Given the description of an element on the screen output the (x, y) to click on. 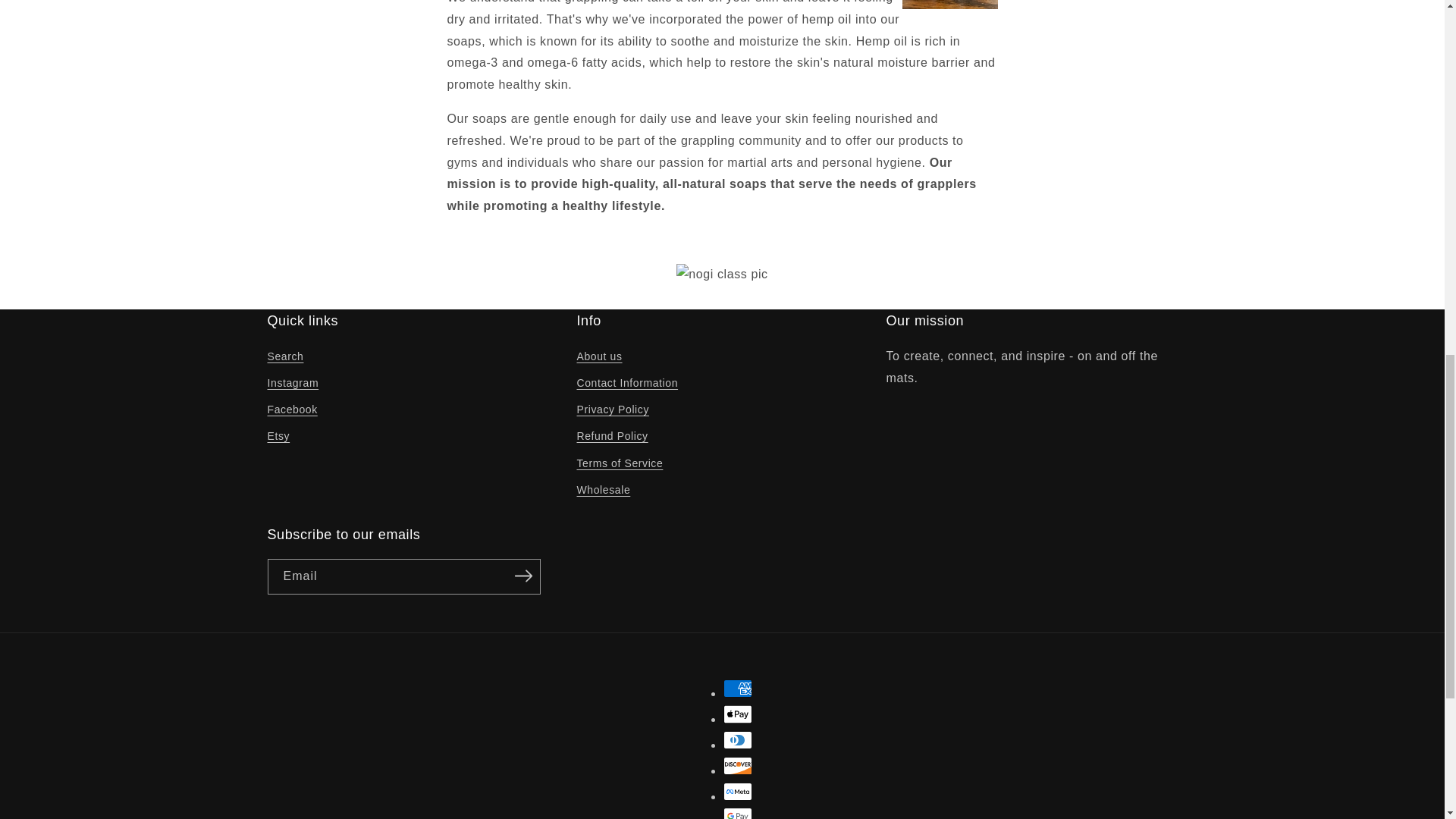
Facebook (291, 409)
Google Pay (737, 813)
Apple Pay (737, 714)
Wholesale (603, 489)
Diners Club (737, 740)
Privacy Policy (612, 409)
Discover (737, 765)
Instagram (292, 383)
Terms of Service (619, 463)
Meta Pay (737, 791)
About us (598, 358)
American Express (737, 688)
Contact Information (627, 383)
Search (284, 358)
Refund Policy (611, 436)
